Given the description of an element on the screen output the (x, y) to click on. 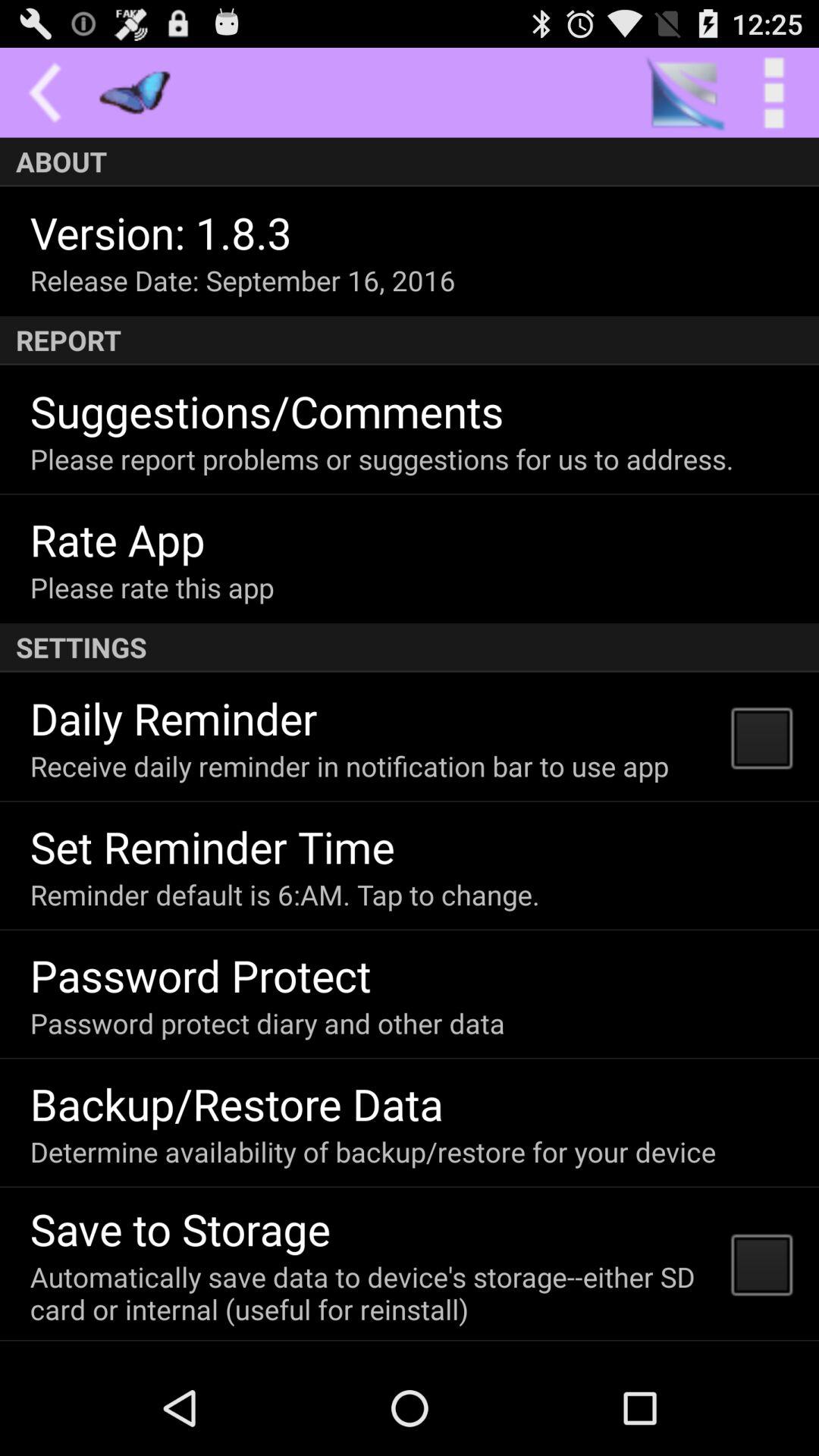
turn off the item below the about icon (160, 232)
